Given the description of an element on the screen output the (x, y) to click on. 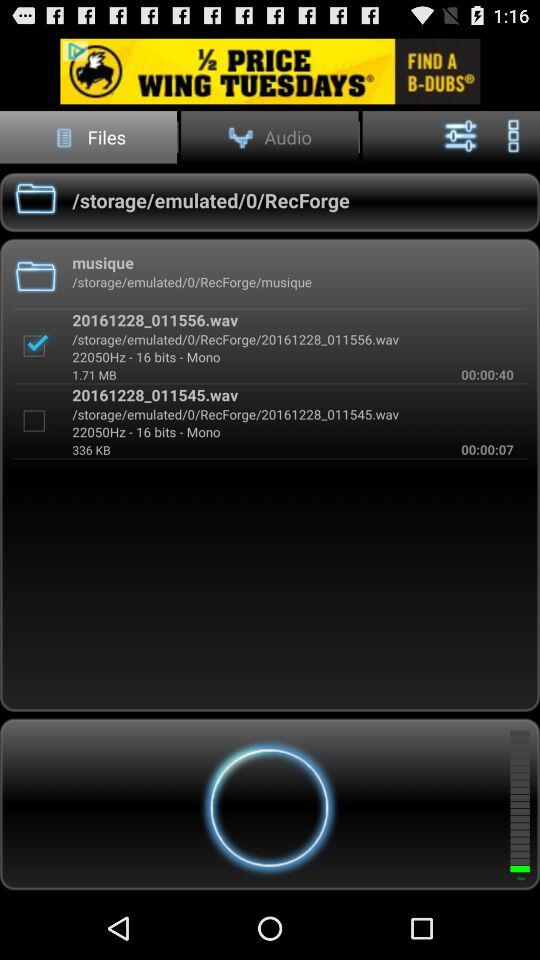
open advertisement (270, 70)
